Given the description of an element on the screen output the (x, y) to click on. 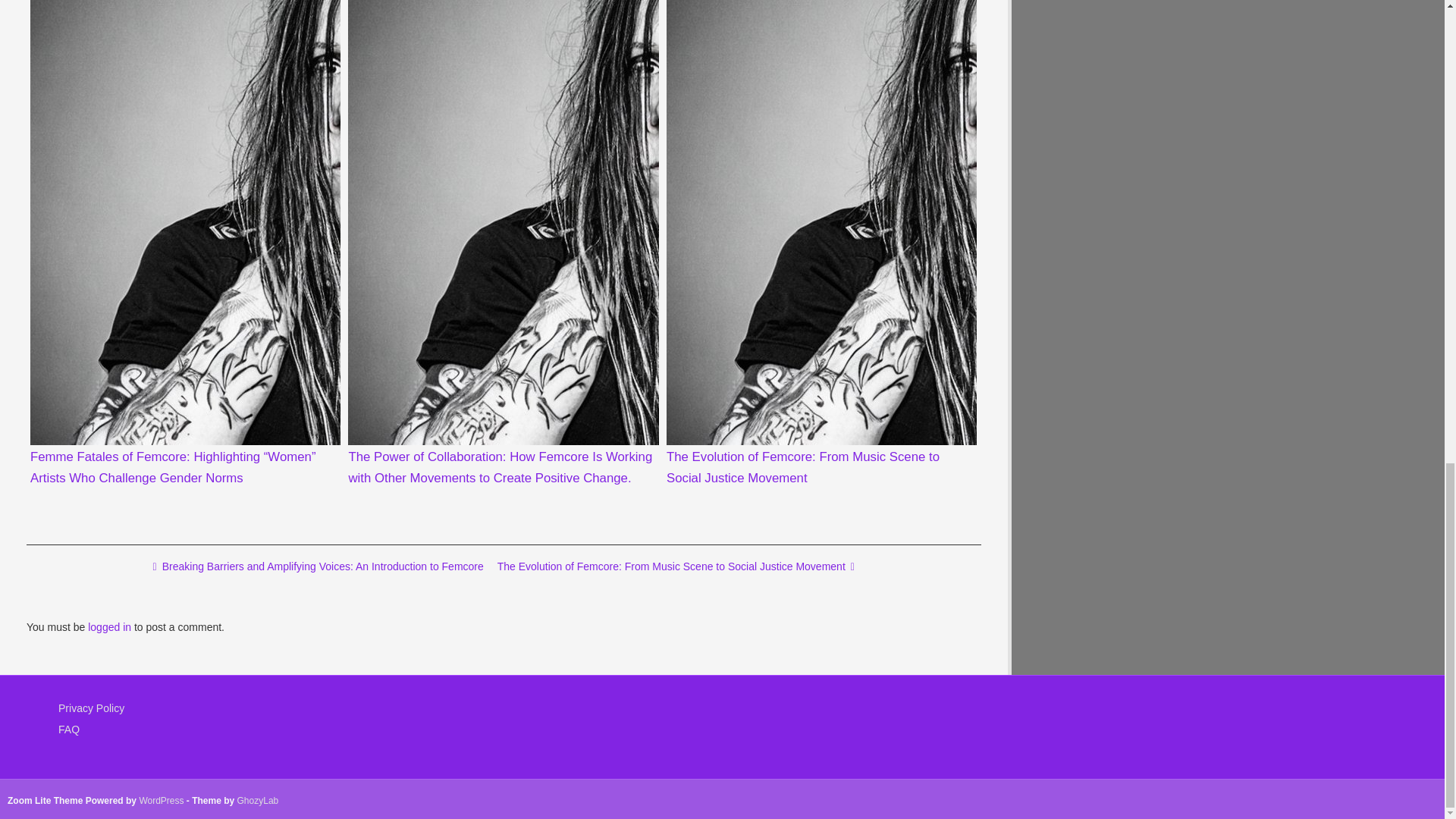
FAQ (69, 729)
logged in (109, 626)
Privacy Policy (90, 707)
WordPress (160, 800)
GhozyLab (258, 800)
